Given the description of an element on the screen output the (x, y) to click on. 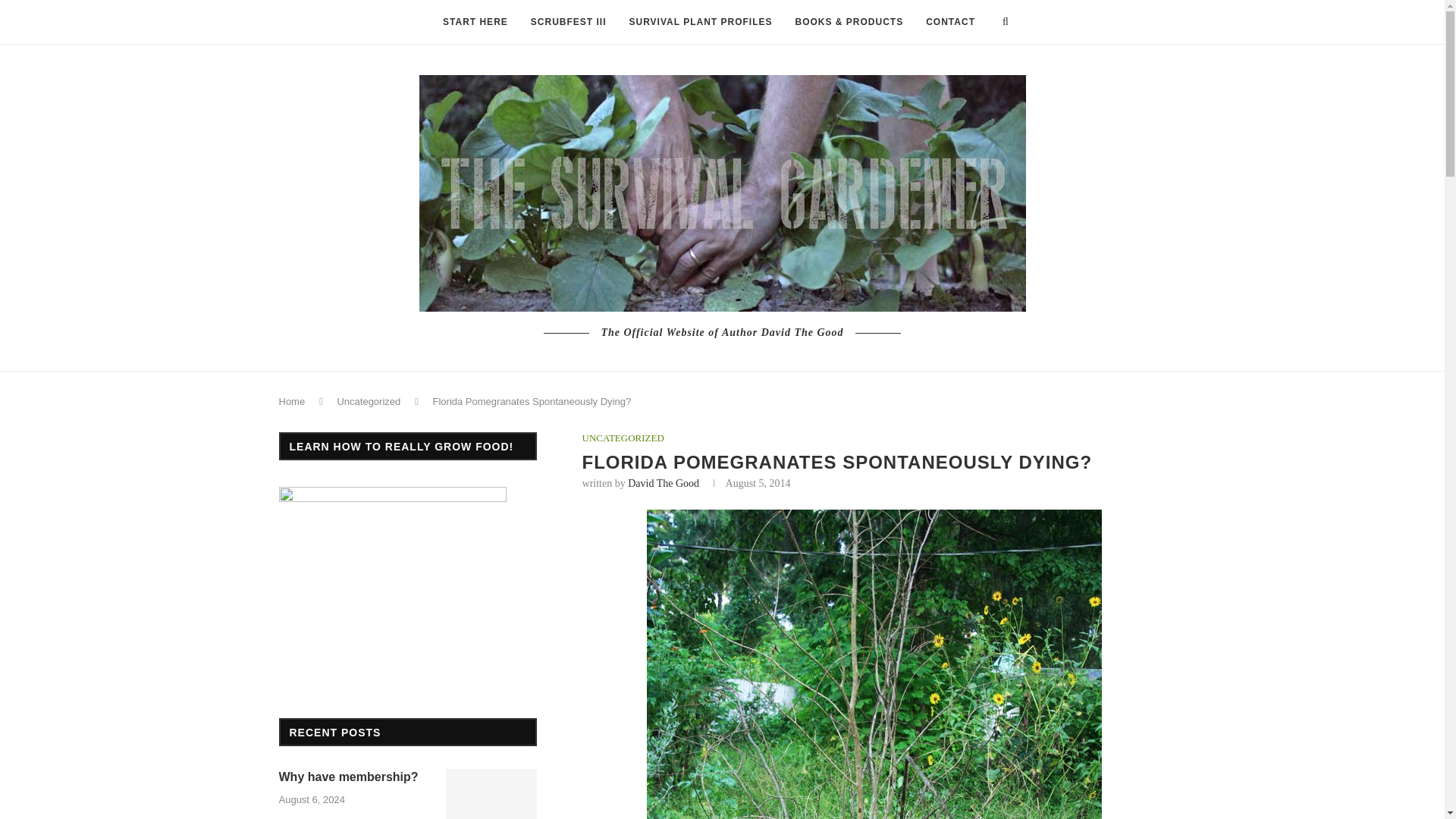
SURVIVAL PLANT PROFILES (700, 22)
Uncategorized (368, 401)
START HERE (474, 22)
UNCATEGORIZED (622, 438)
David The Good (662, 482)
SCRUBFEST III (568, 22)
CONTACT (950, 22)
Home (292, 401)
